Given the description of an element on the screen output the (x, y) to click on. 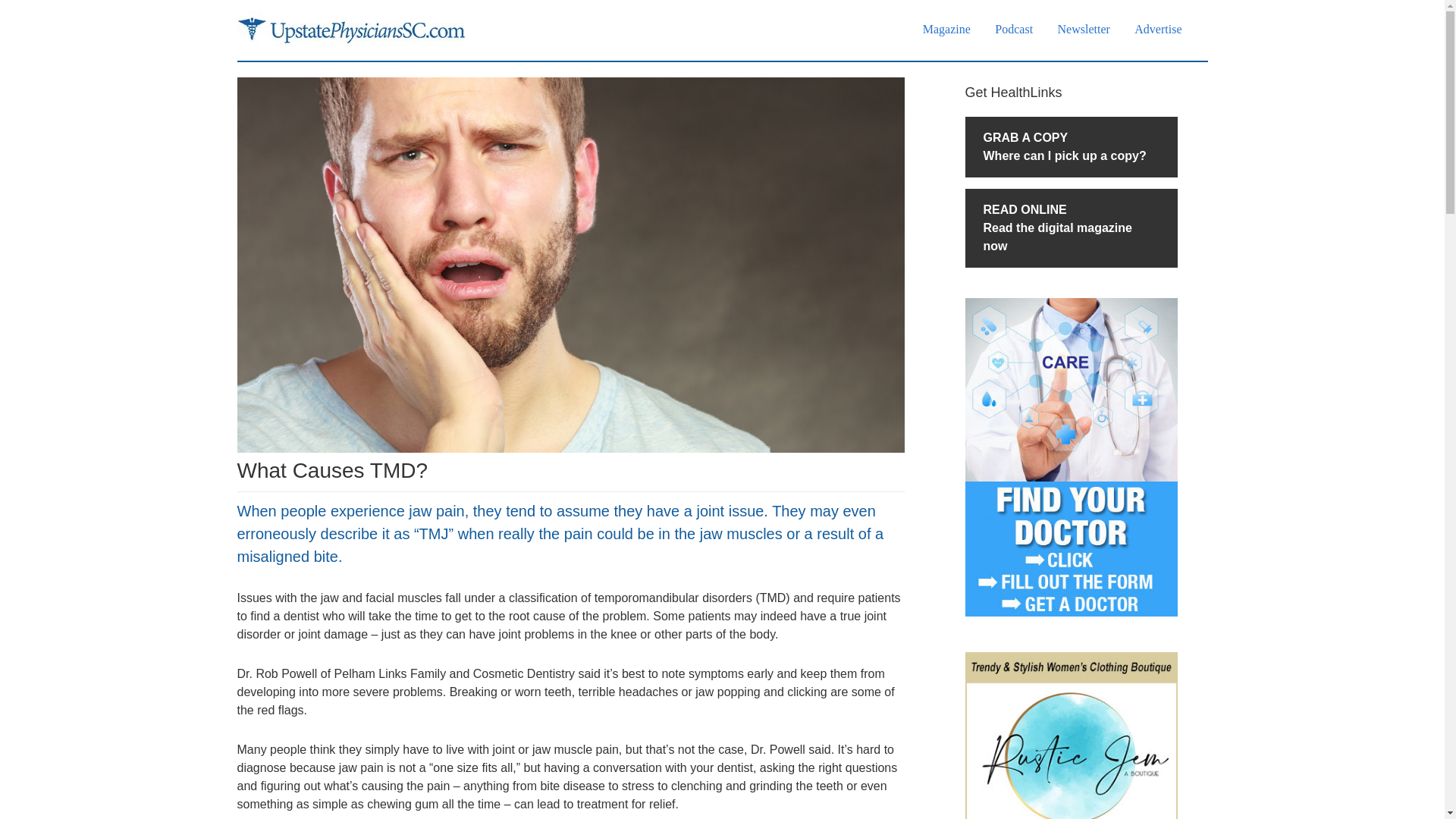
Podcast (1013, 29)
Newsletter (1083, 29)
Advertise (1069, 228)
Magazine (1069, 147)
Upstate Physicians (1158, 29)
Skip to main content (946, 29)
